Given the description of an element on the screen output the (x, y) to click on. 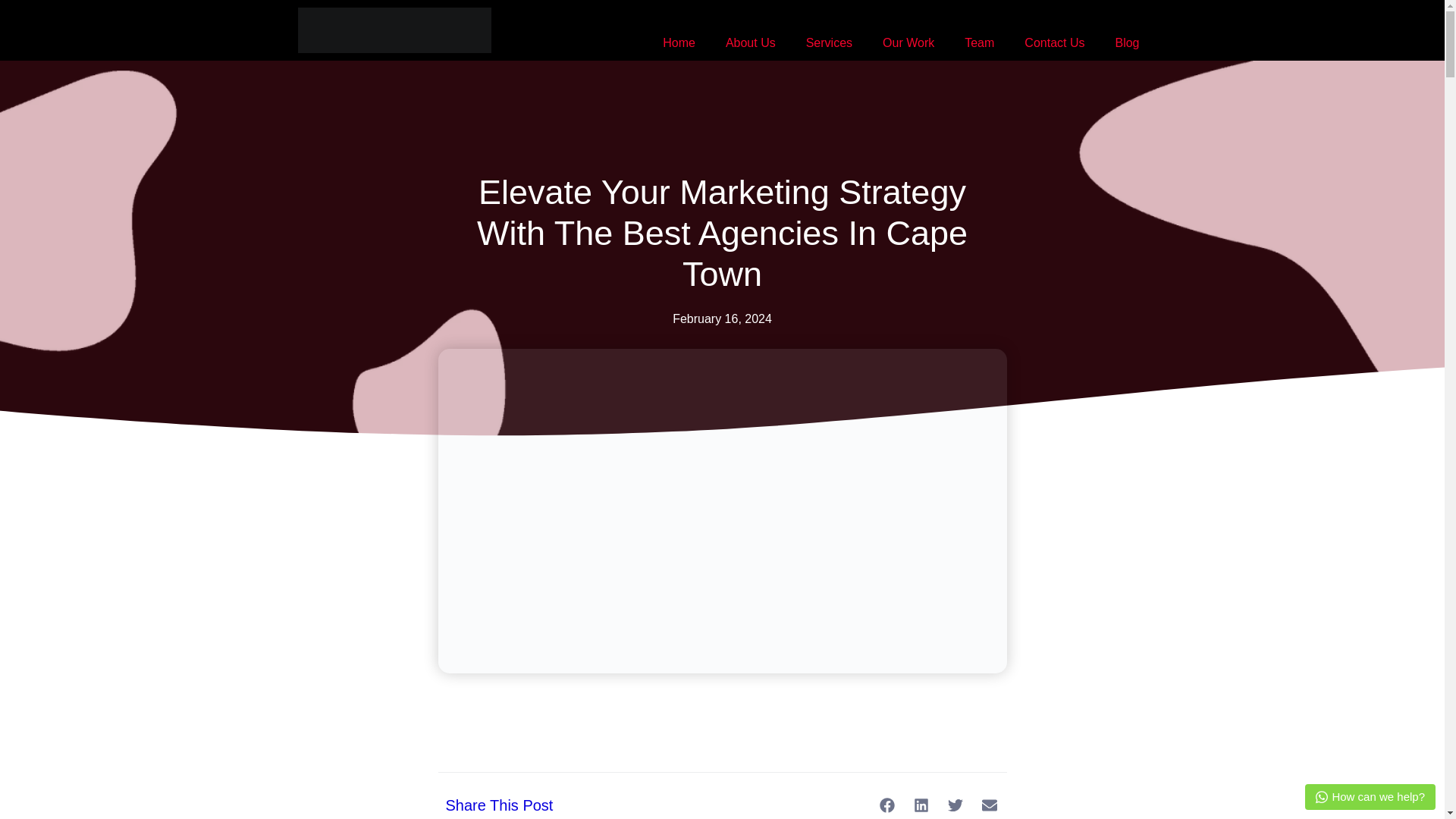
Blog (1126, 42)
About Us (750, 42)
Contact Us (1054, 42)
Our Work (908, 42)
Services (828, 42)
Home (678, 42)
Team (979, 42)
February 16, 2024 (721, 319)
